Given the description of an element on the screen output the (x, y) to click on. 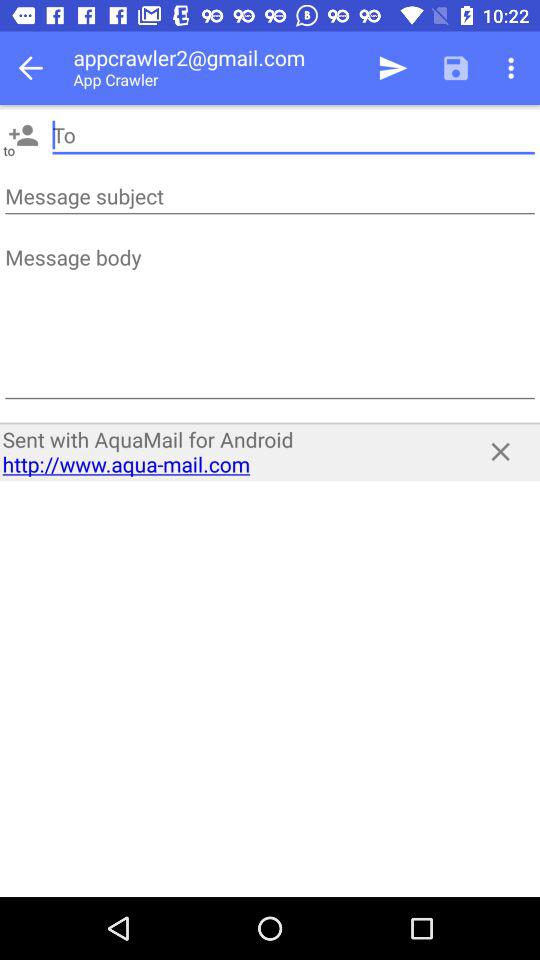
open the item to the right of appcrawler2@gmail.com icon (392, 67)
